Given the description of an element on the screen output the (x, y) to click on. 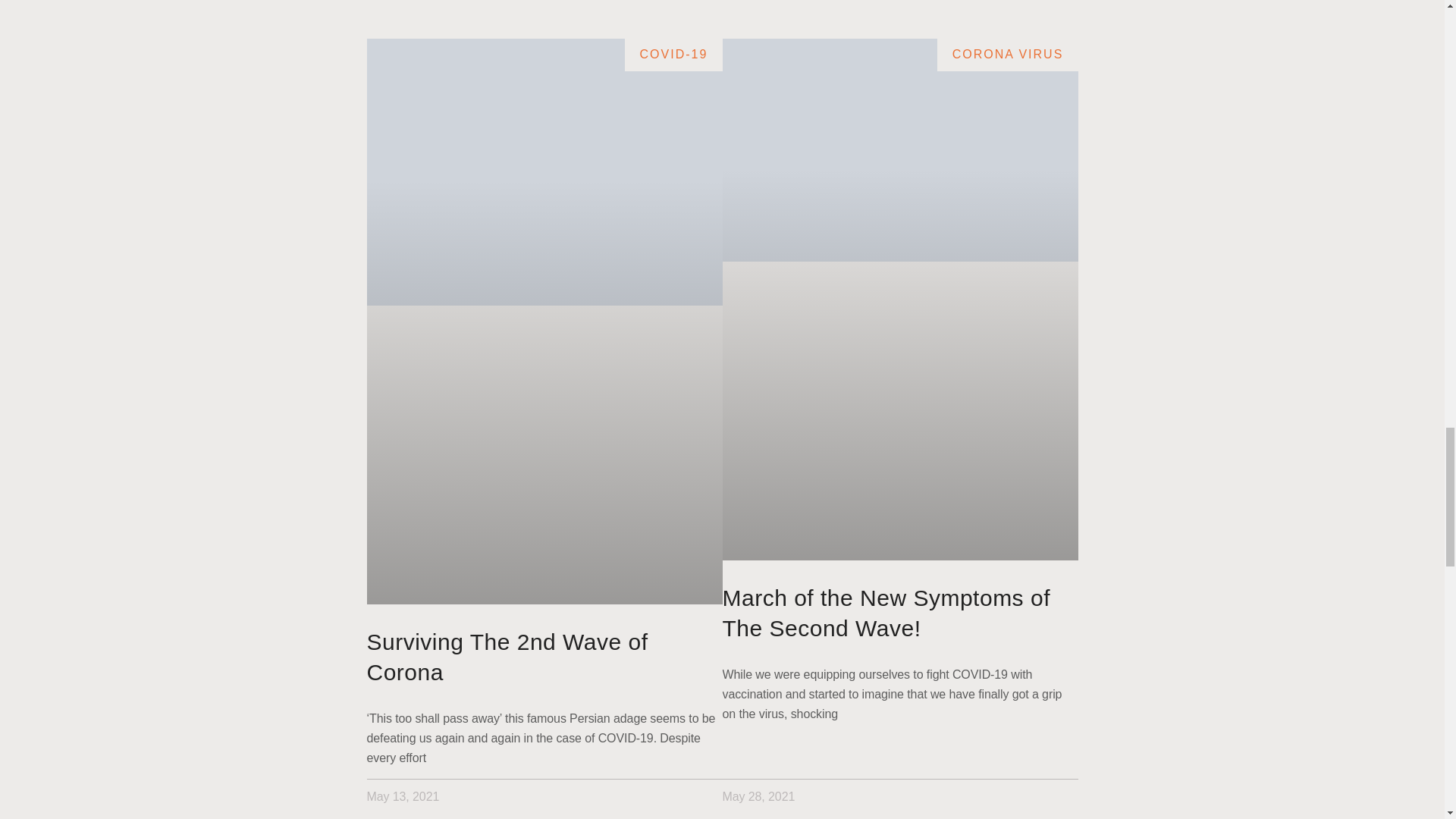
March of the New Symptoms of The Second Wave! (885, 612)
Surviving The 2nd Wave of Corona (506, 656)
